Given the description of an element on the screen output the (x, y) to click on. 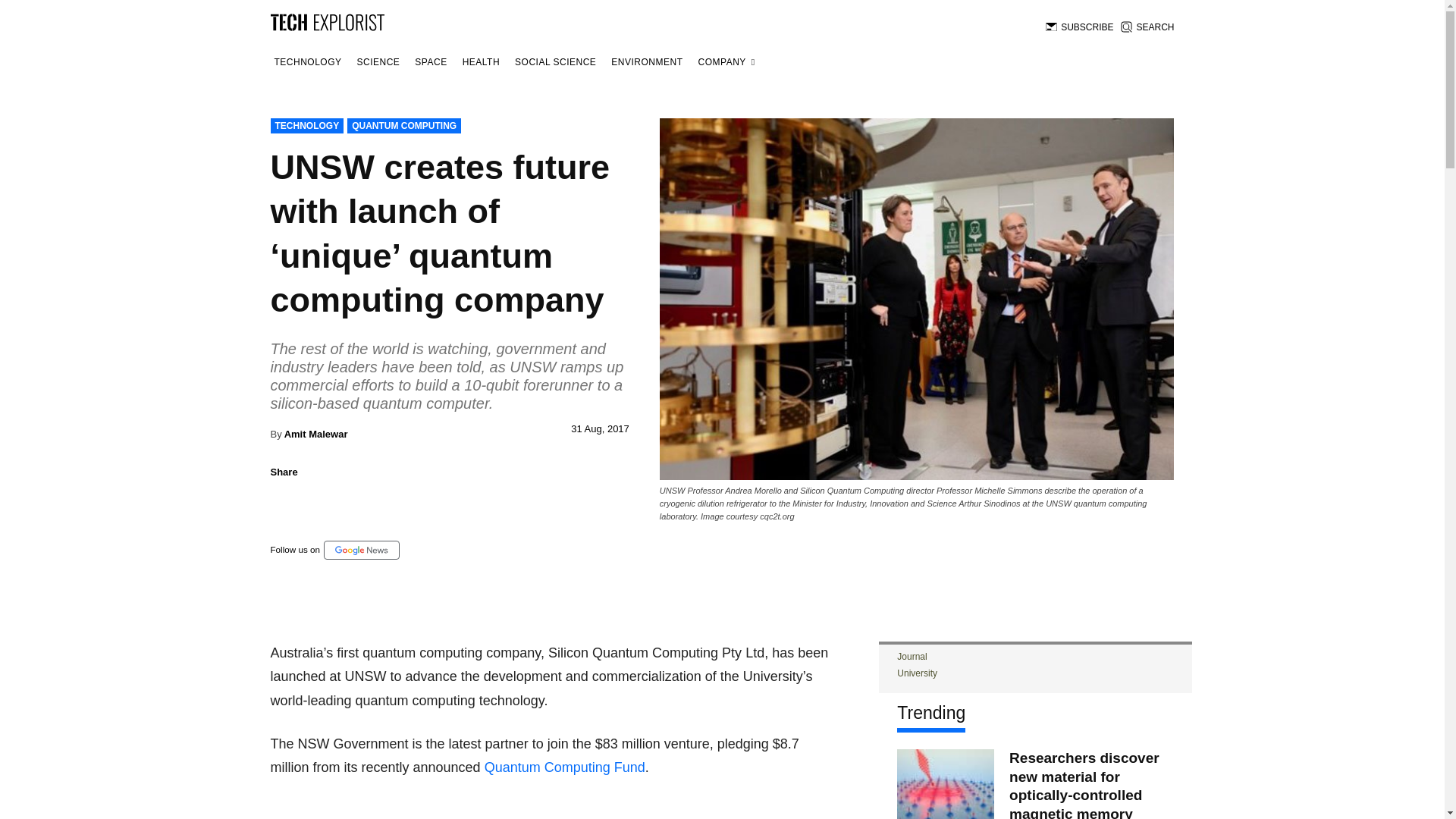
TECHNOLOGY (306, 125)
Health (480, 62)
SCIENCE (378, 62)
QUANTUM COMPUTING (404, 125)
COMPANY (726, 62)
TECHNOLOGY (307, 62)
SOCIAL SCIENCE (555, 62)
ENVIRONMENT (646, 62)
Tech Explorist (326, 21)
